Given the description of an element on the screen output the (x, y) to click on. 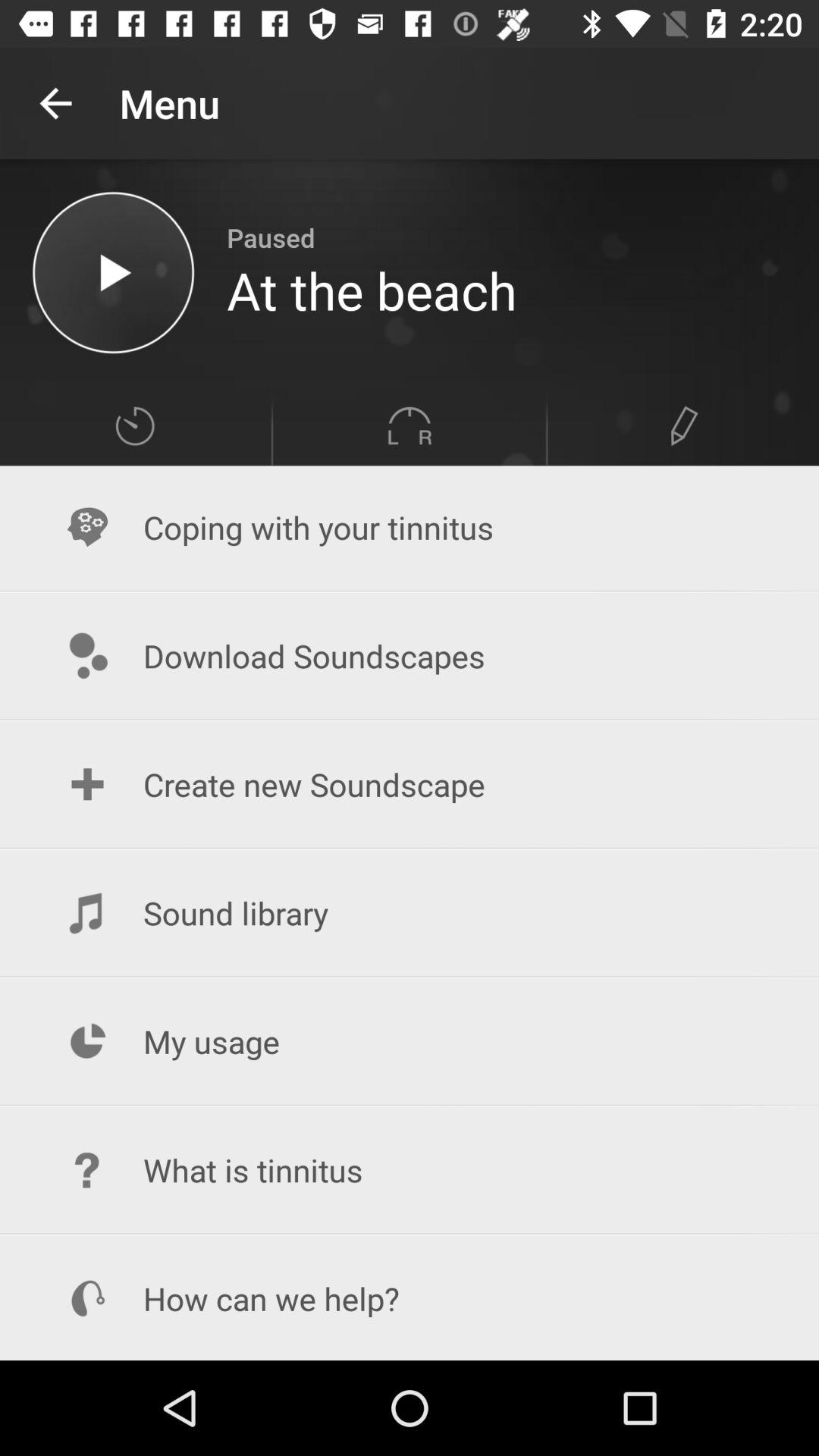
play the selected music (113, 272)
